Given the description of an element on the screen output the (x, y) to click on. 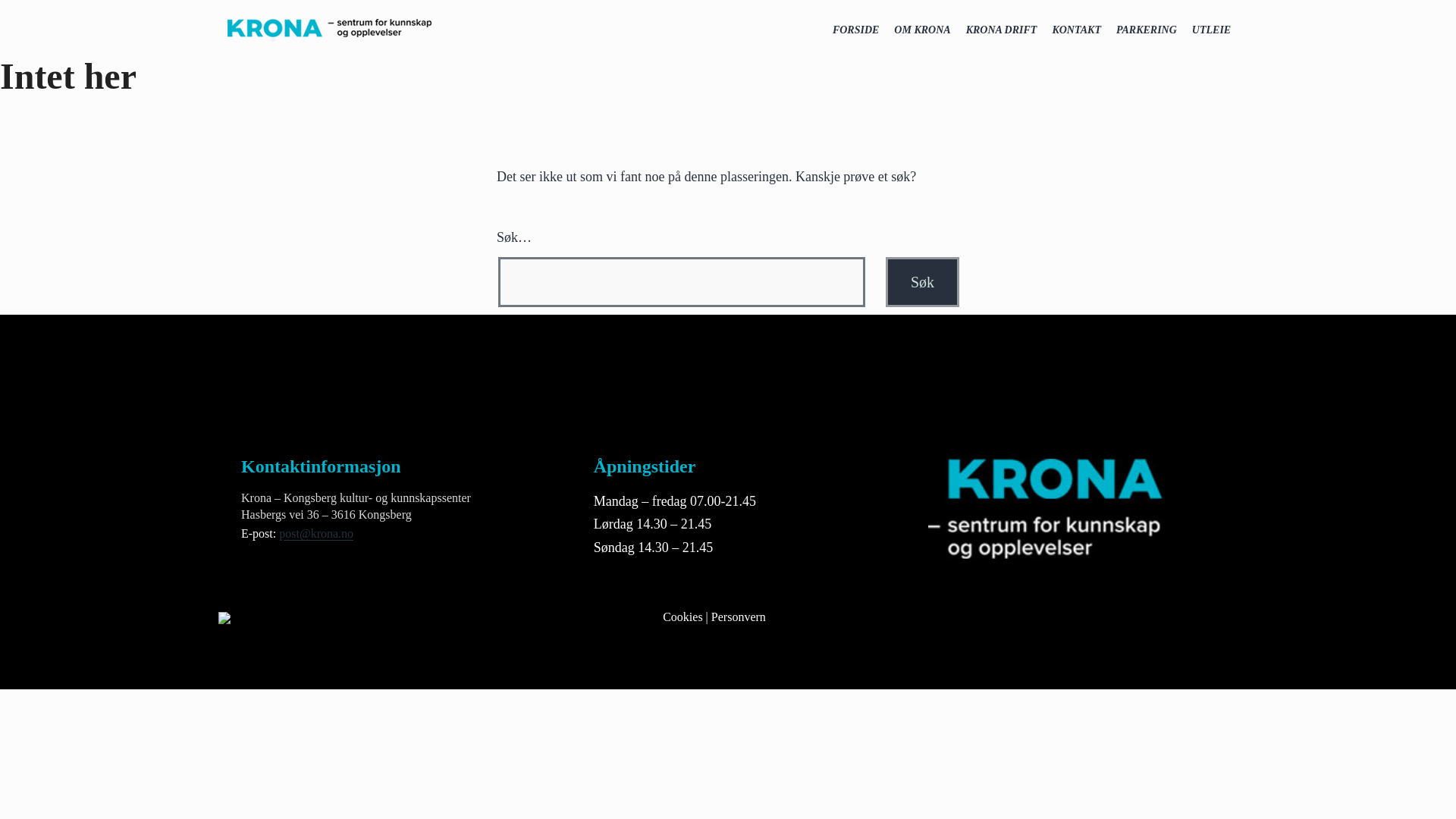
PARKERING (1146, 29)
Personvern (738, 616)
KONTAKT (1075, 29)
UTLEIE (1212, 29)
OM KRONA (922, 29)
FORSIDE (855, 29)
KRONA DRIFT (1001, 29)
